Given the description of an element on the screen output the (x, y) to click on. 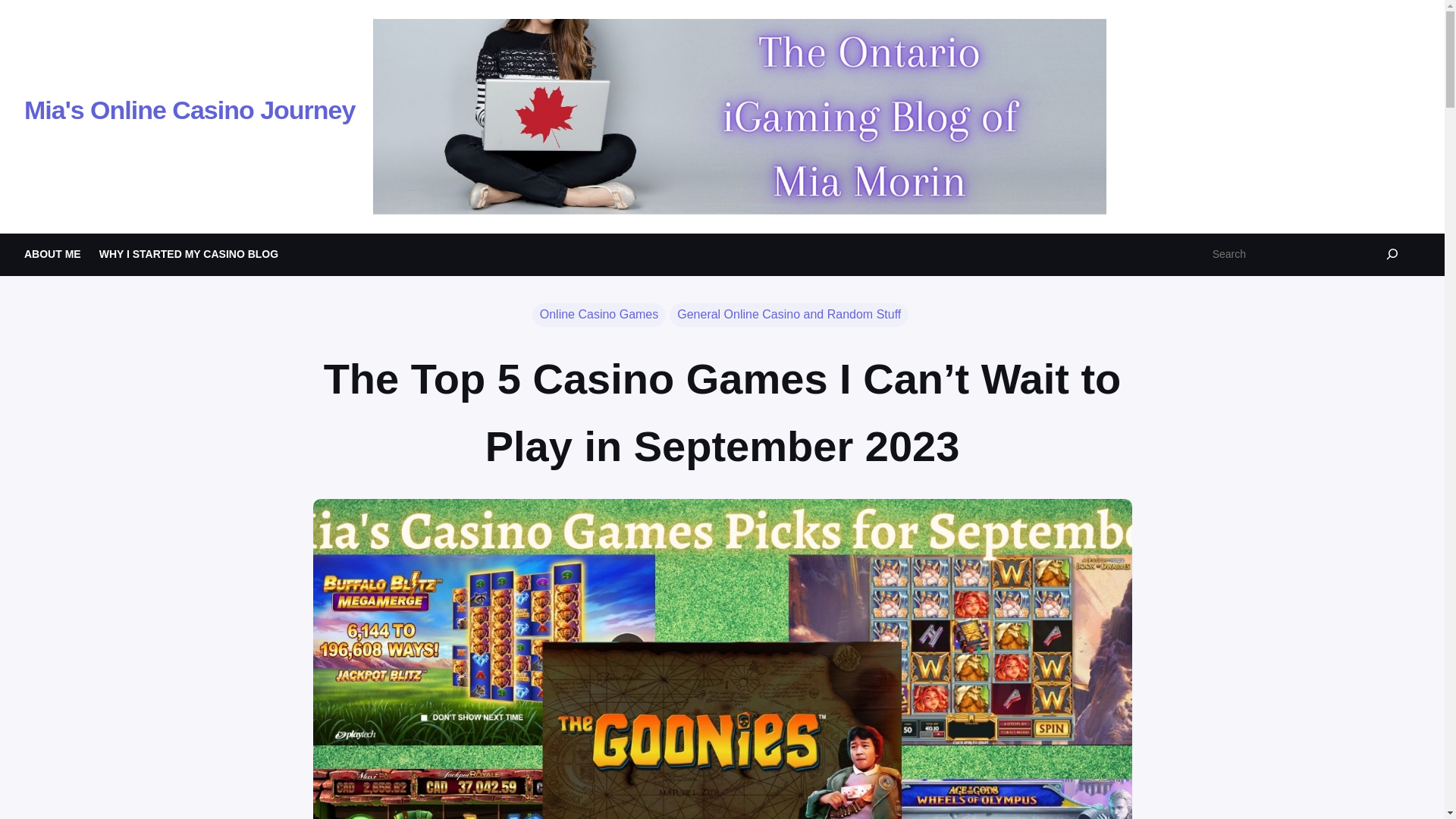
Online Casino Games (599, 315)
WHY I STARTED MY CASINO BLOG (188, 253)
ABOUT ME (52, 253)
General Online Casino and Random Stuff (788, 315)
Mia's Online Casino Journey (189, 109)
